Given the description of an element on the screen output the (x, y) to click on. 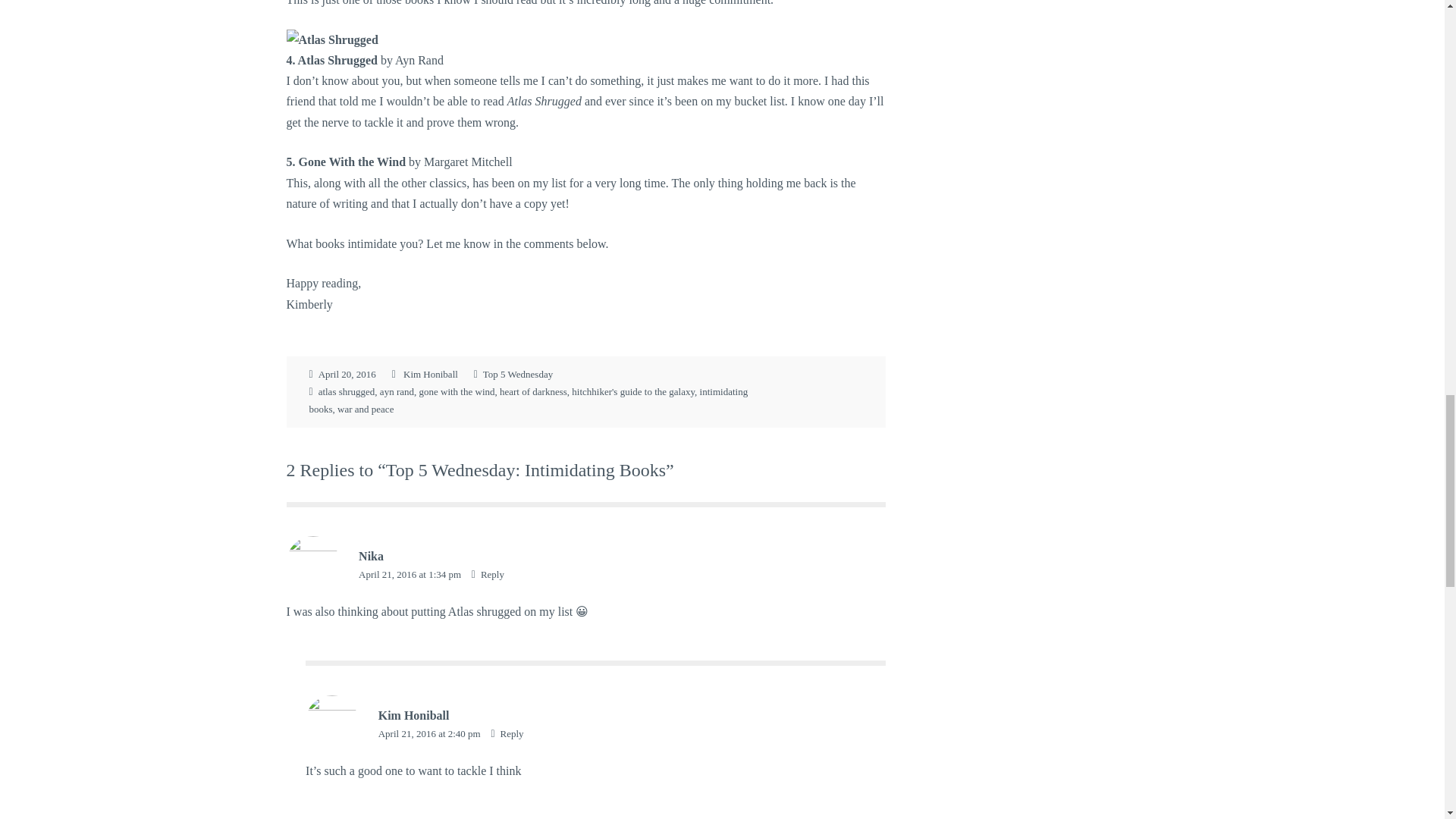
hitchhiker's guide to the galaxy (633, 391)
gone with the wind (457, 391)
Kim Honiball (413, 715)
April 20, 2016 (346, 374)
Top 5 Wednesday (518, 374)
Nika (371, 555)
April 21, 2016 at 1:34 pm (410, 573)
Kim Honiball (430, 374)
Reply (487, 573)
war and peace (365, 409)
April 21, 2016 at 2:40 pm (430, 733)
intimidating books (528, 400)
atlas shrugged (346, 391)
heart of darkness (533, 391)
ayn rand (396, 391)
